Given the description of an element on the screen output the (x, y) to click on. 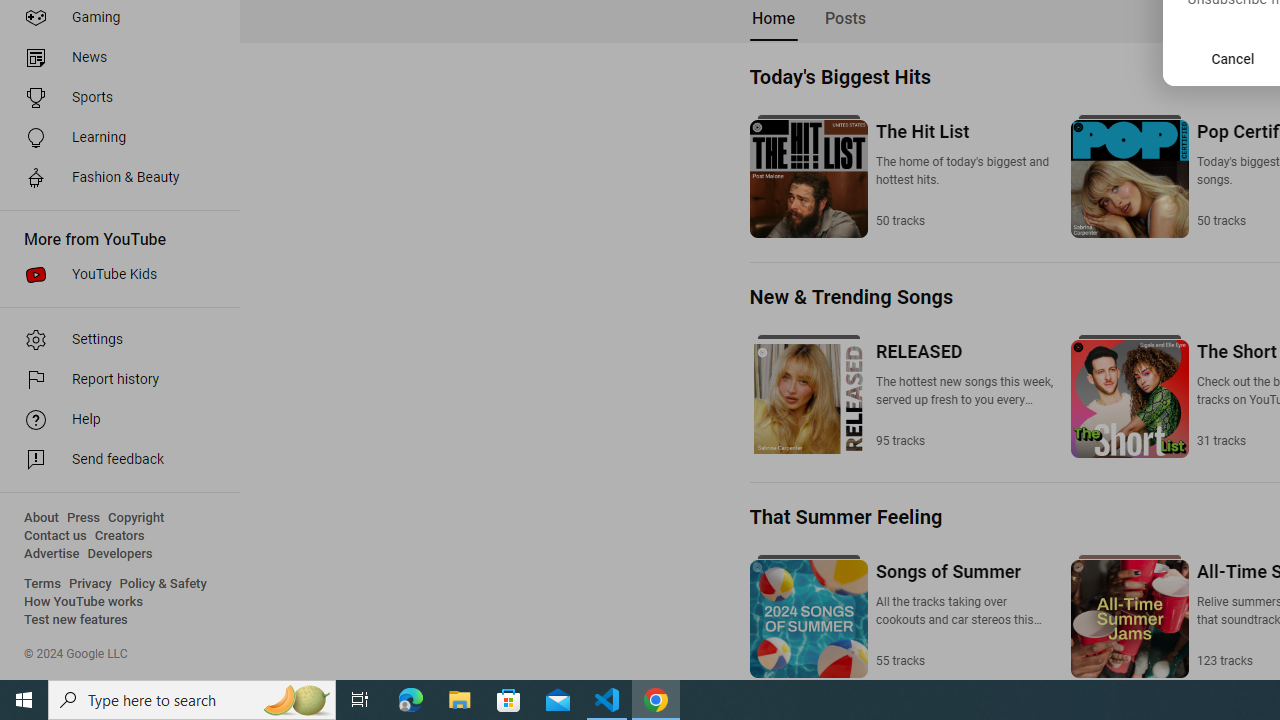
New & Trending Songs (850, 296)
Creators (118, 536)
About (41, 518)
Report history (113, 380)
YouTube Kids (113, 274)
Sports (113, 97)
Send feedback (113, 459)
Cancel (1233, 59)
Today's Biggest Hits (839, 76)
That Summer Feeling (845, 517)
